Given the description of an element on the screen output the (x, y) to click on. 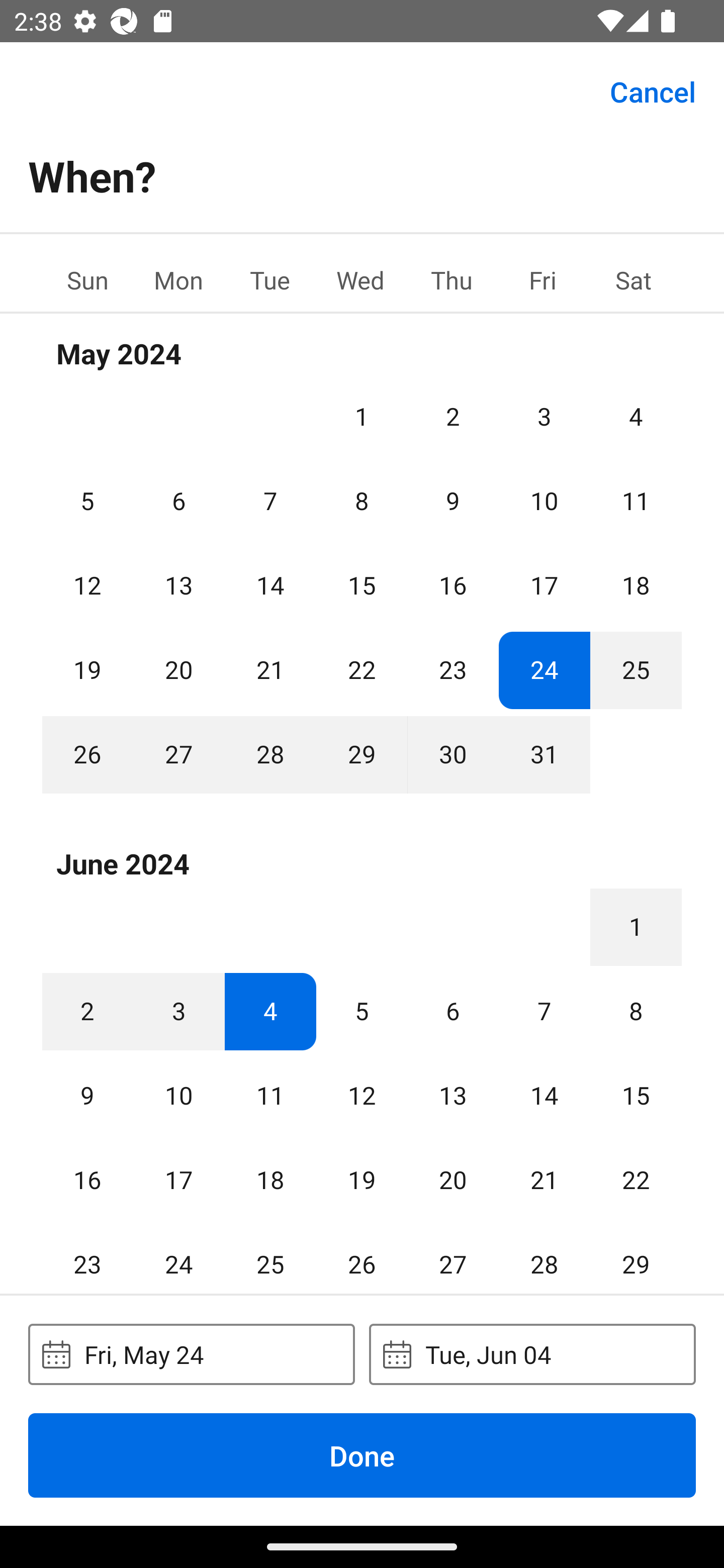
Cancel (652, 90)
Fri, May 24 (191, 1353)
Tue, Jun 04 (532, 1353)
Done (361, 1454)
